Given the description of an element on the screen output the (x, y) to click on. 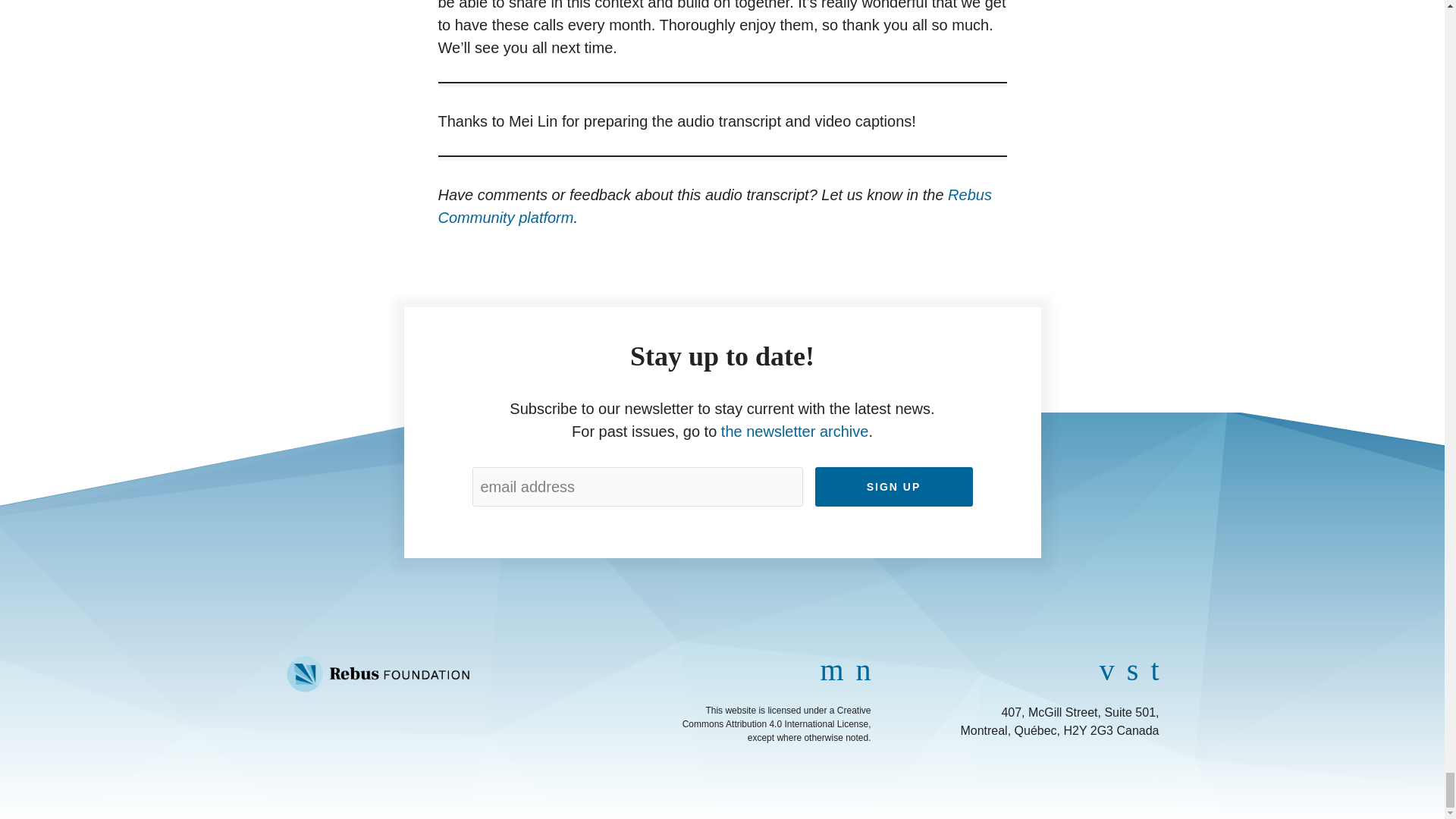
Sign up (892, 486)
Sign up (892, 486)
Rebus Community platform (714, 206)
the newsletter archive (794, 431)
